Given the description of an element on the screen output the (x, y) to click on. 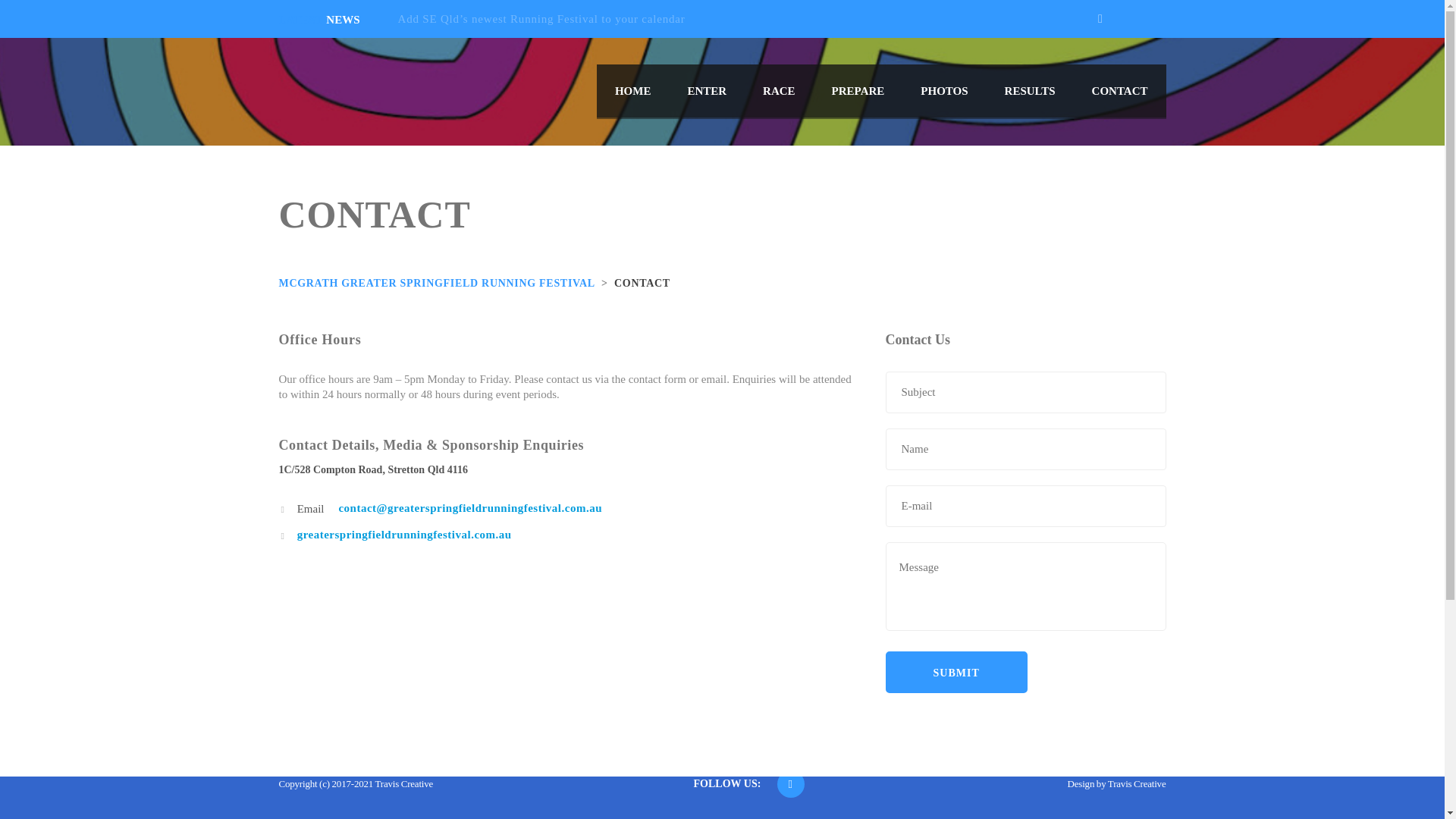
RESULTS Element type: text (1029, 90)
PHOTOS Element type: text (943, 90)
PREPARE Element type: text (858, 90)
MCGRATH GREATER SPRINGFIELD RUNNING FESTIVAL Element type: text (437, 282)
ENTER Element type: text (706, 90)
CONTACT Element type: text (1119, 90)
RACE Element type: text (778, 90)
Submit Element type: text (956, 672)
greaterspringfieldrunningfestival.com.au Element type: text (404, 534)
contact@greaterspringfieldrunningfestival.com.au Element type: text (470, 508)
HOME Element type: text (632, 90)
